Given the description of an element on the screen output the (x, y) to click on. 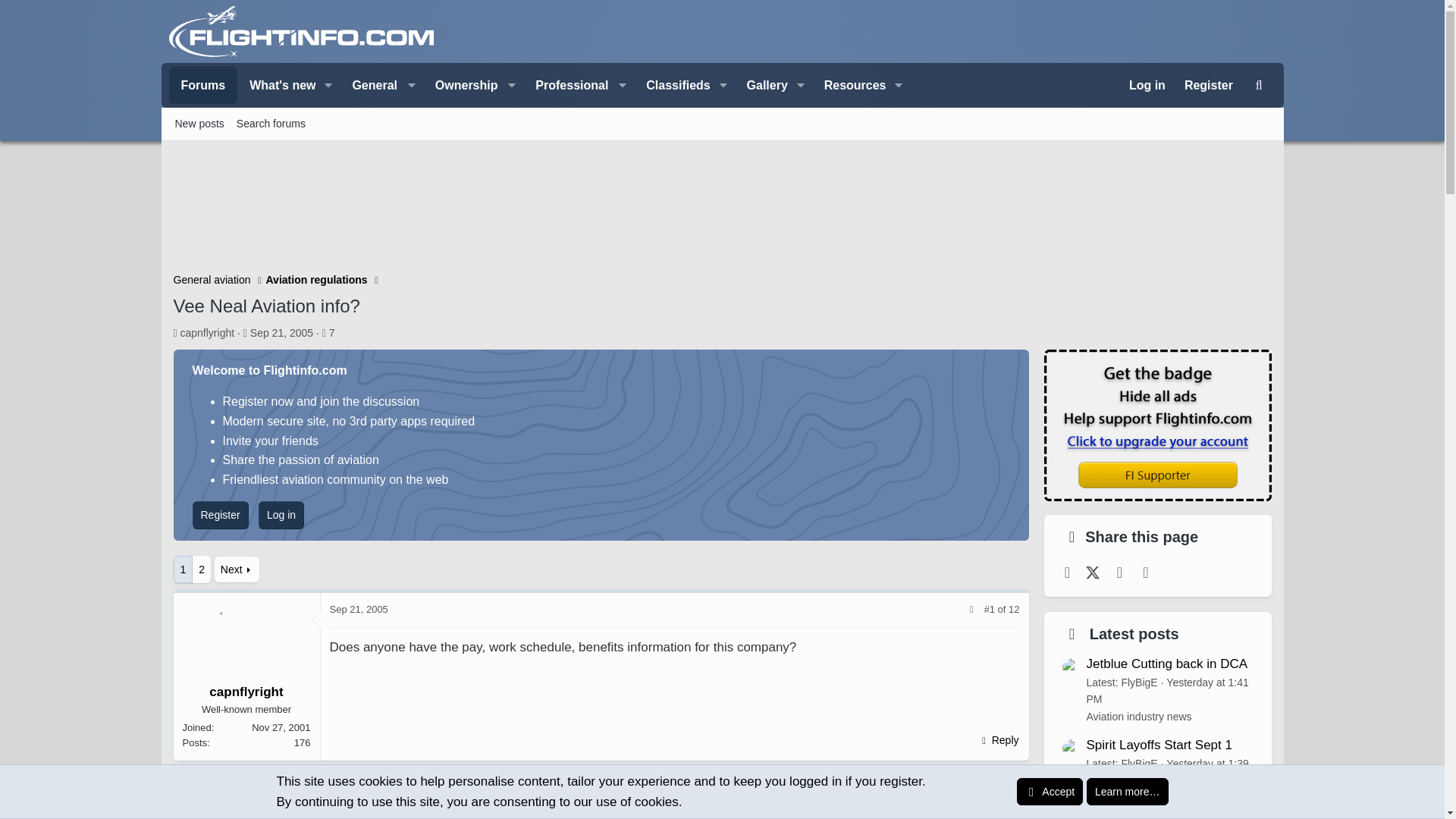
Forums (202, 85)
Search (1258, 85)
Sep 21, 2005 at 3:29 AM (281, 332)
Reply, quoting this message (998, 739)
Sep 21, 2005 at 3:29 AM (358, 609)
General (380, 85)
Go to latest (1014, 609)
